Given the description of an element on the screen output the (x, y) to click on. 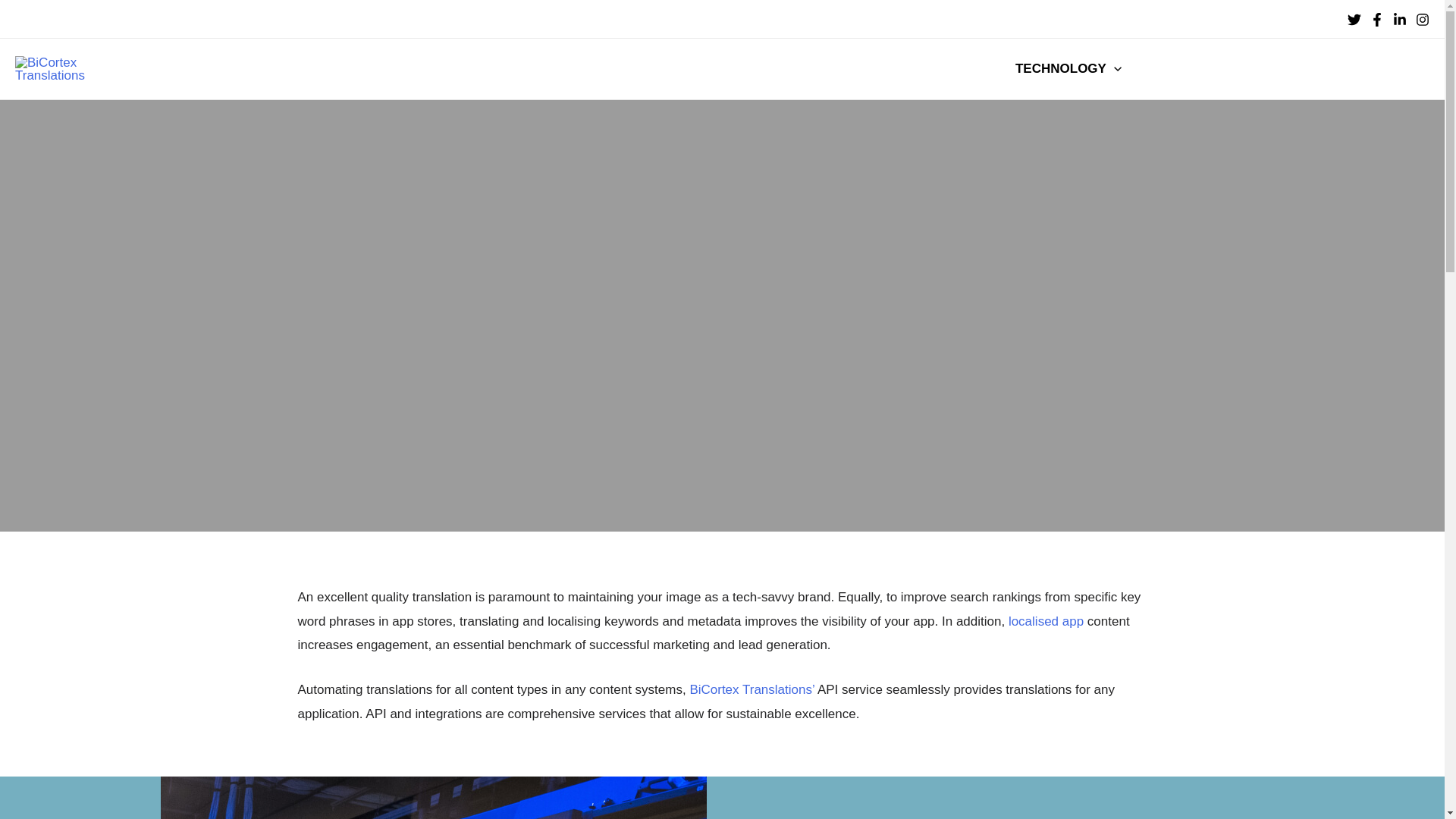
SERVICES (949, 68)
TECHNOLOGY (1068, 68)
ABOUT US (841, 68)
LANGUAGES (1195, 68)
